Given the description of an element on the screen output the (x, y) to click on. 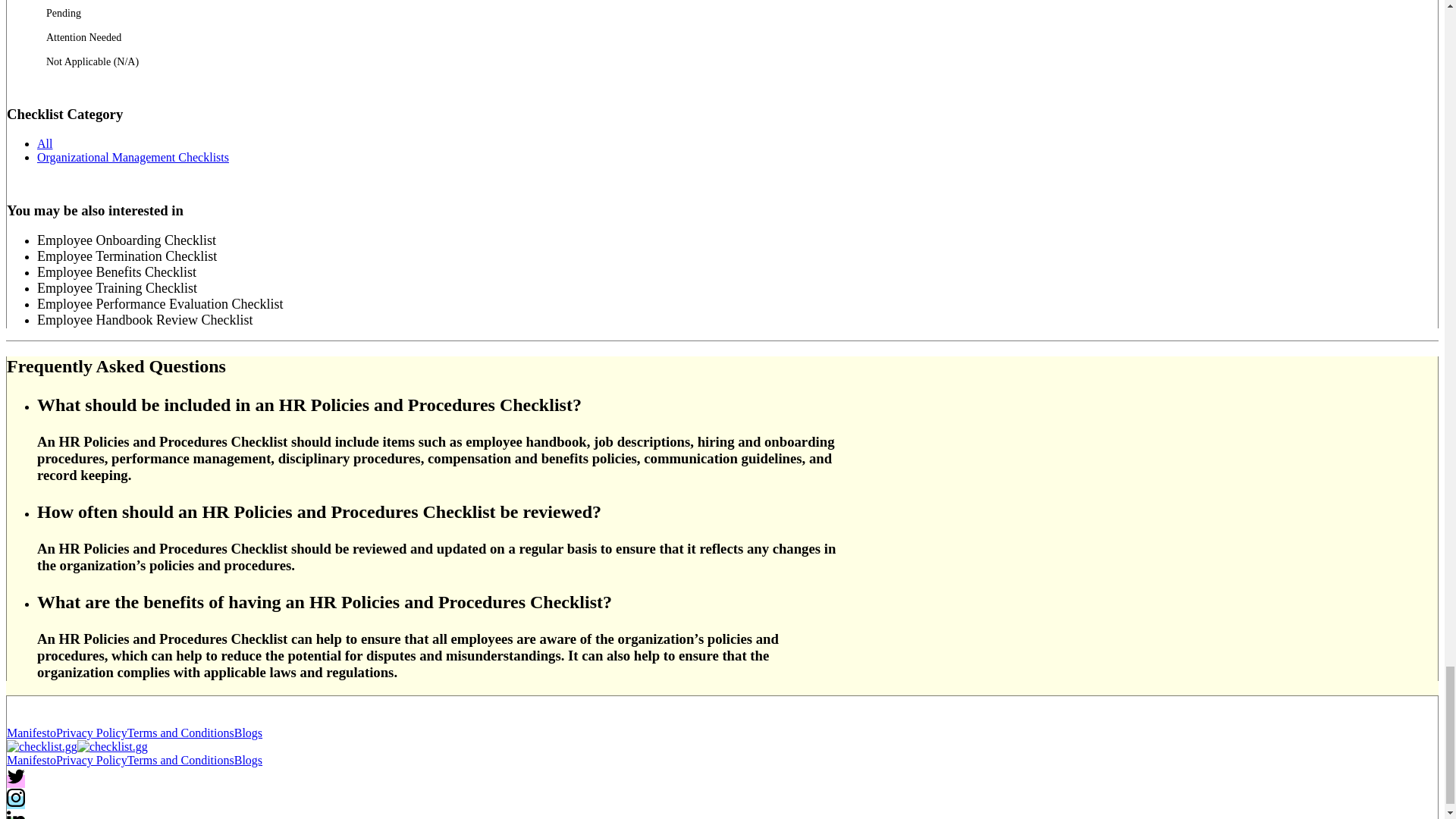
Manifesto (31, 732)
Privacy Policy (92, 732)
Blogs (248, 732)
All (44, 143)
Terms and Conditions (181, 732)
Privacy Policy (92, 759)
Organizational Management Checklists (132, 156)
Manifesto (31, 759)
Terms and Conditions (181, 759)
